Given the description of an element on the screen output the (x, y) to click on. 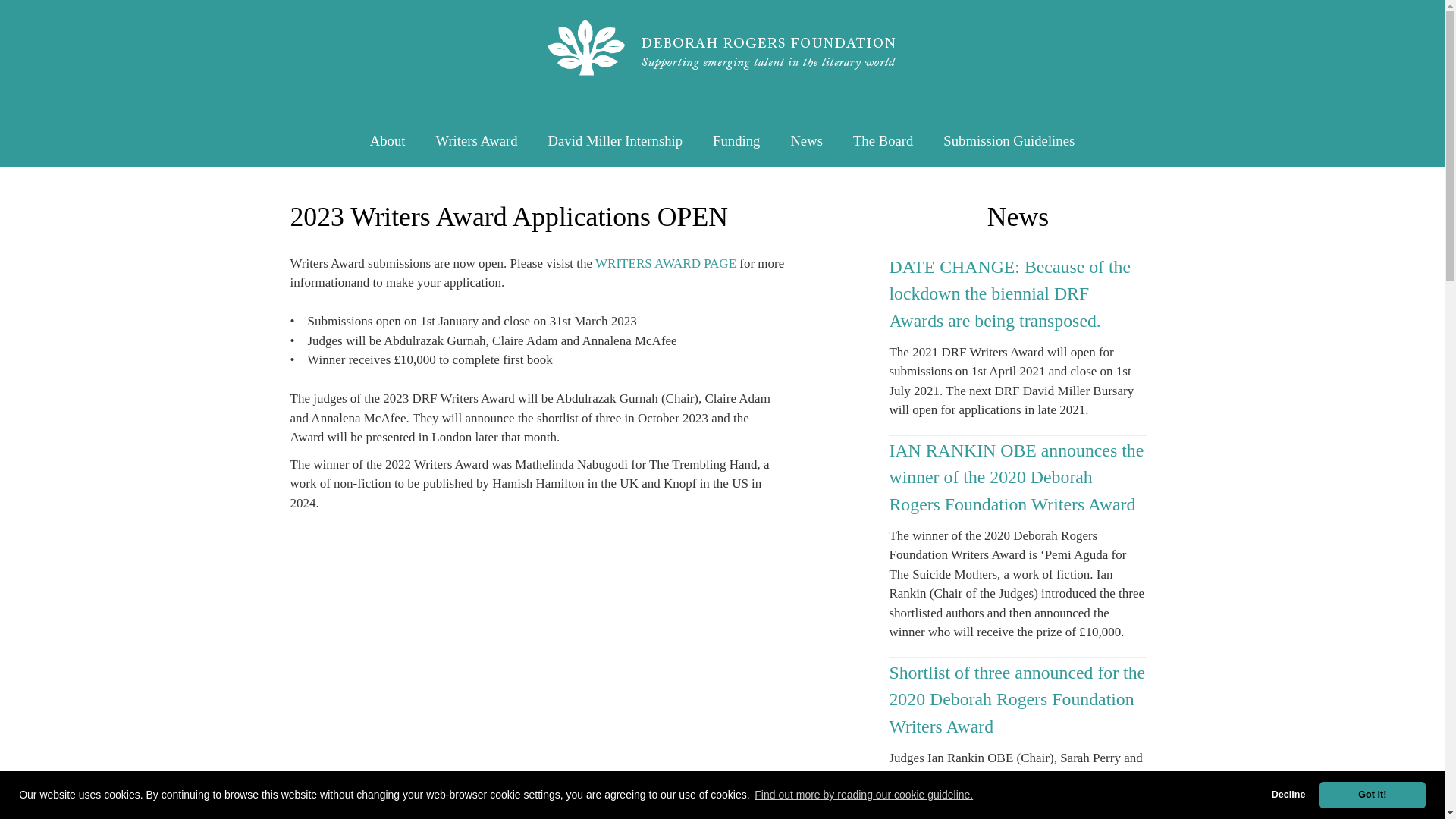
The Board (883, 140)
News (806, 140)
Got it! (1372, 795)
Decline (1288, 795)
Submission Guidelines (1008, 140)
David Miller Internship (615, 140)
Writers Award (476, 140)
About (387, 140)
Funding (735, 140)
WRITERS AWARD PAGE (665, 263)
Find out more by reading our cookie guideline. (863, 794)
